Given the description of an element on the screen output the (x, y) to click on. 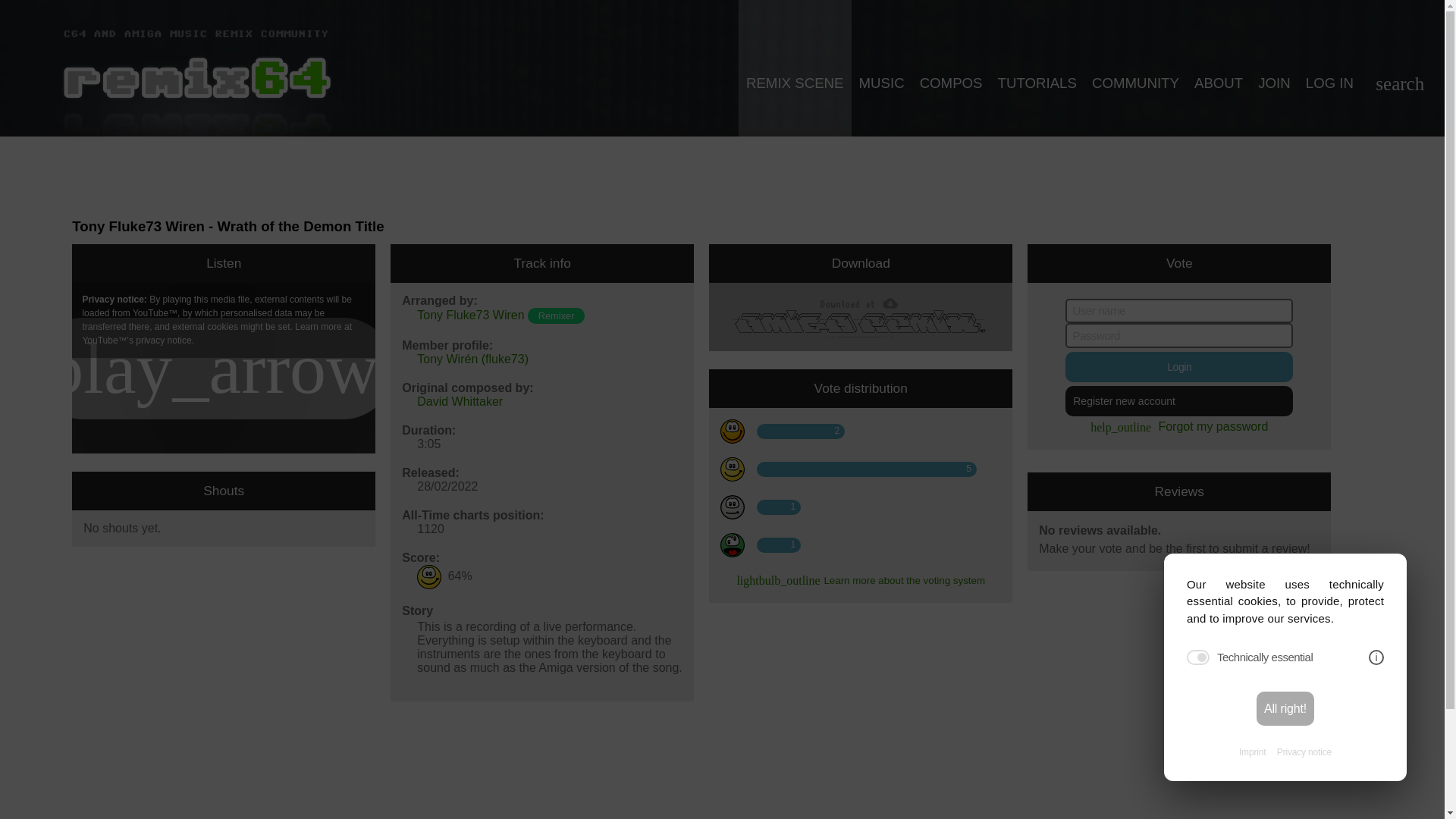
Imprint (1252, 751)
Login (1178, 367)
Regular - 3 years a remixer (556, 315)
Privacy notice (1304, 751)
on (1197, 657)
